Given the description of an element on the screen output the (x, y) to click on. 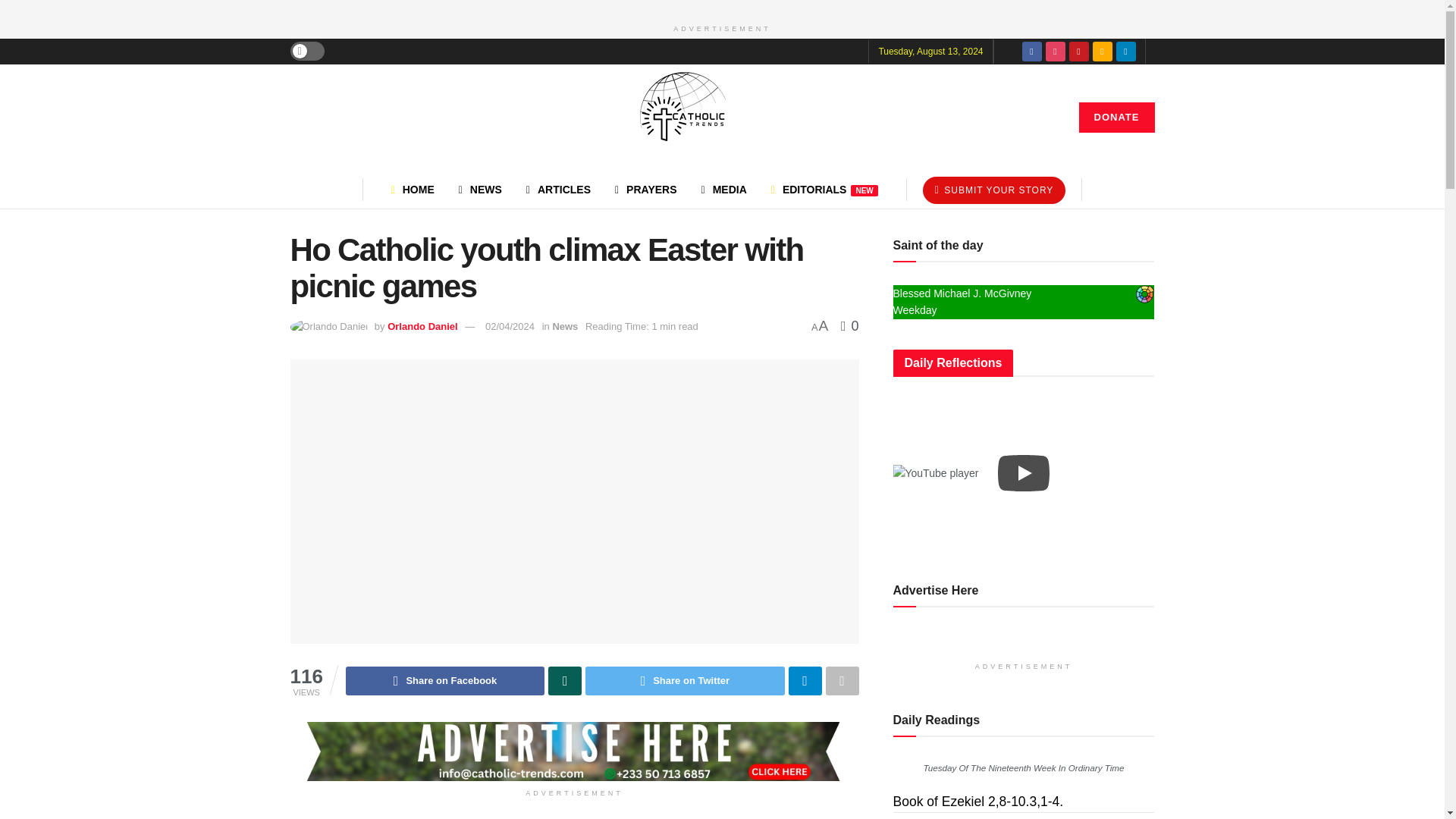
SUBMIT YOUR STORY (994, 189)
HOME (412, 189)
DONATE (1116, 117)
EDITORIALSNEW (823, 189)
ARTICLES (557, 189)
MEDIA (723, 189)
NEWS (479, 189)
PRAYERS (645, 189)
Advertisement (574, 814)
